Given the description of an element on the screen output the (x, y) to click on. 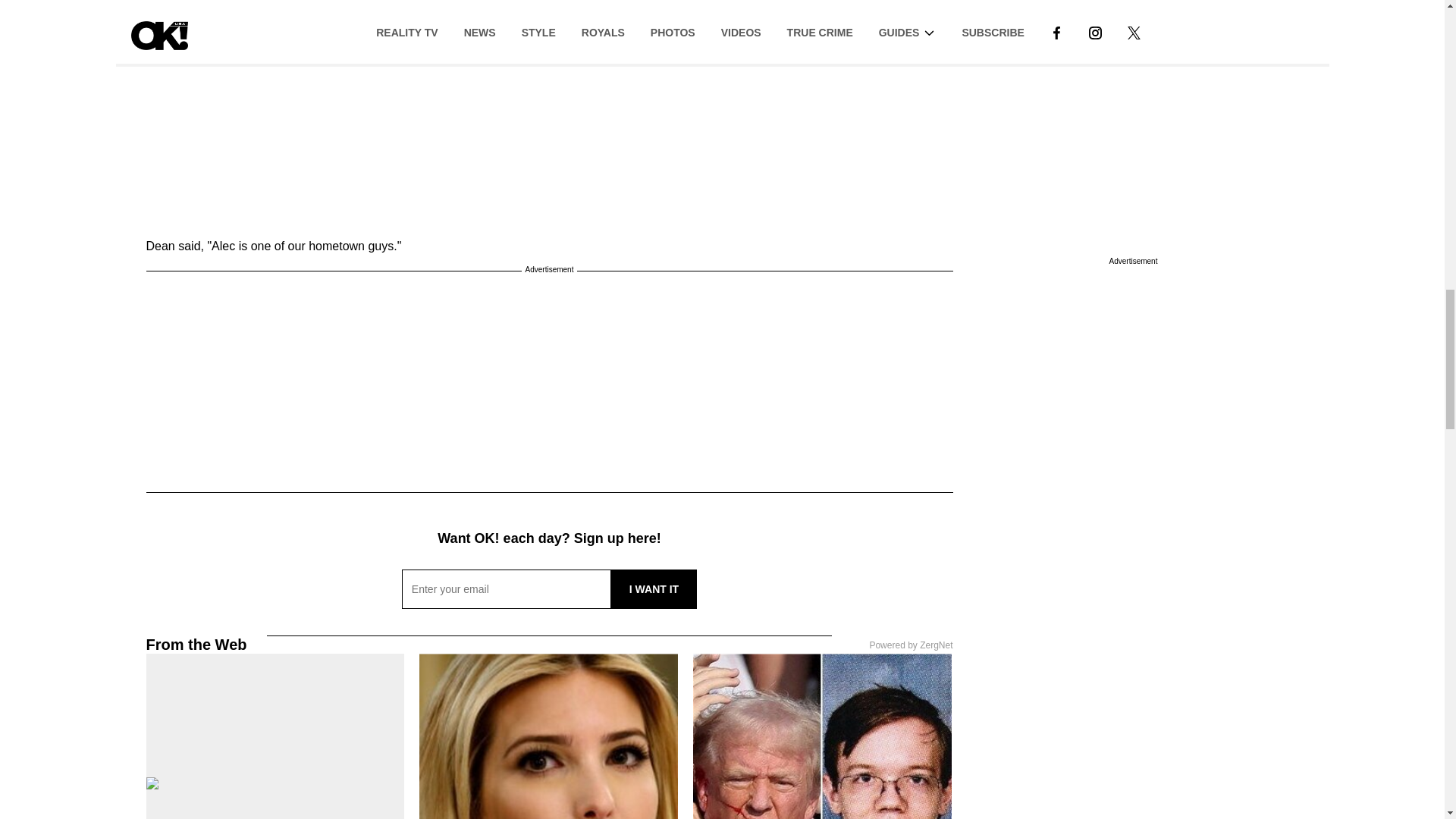
I WANT IT (654, 589)
